Given the description of an element on the screen output the (x, y) to click on. 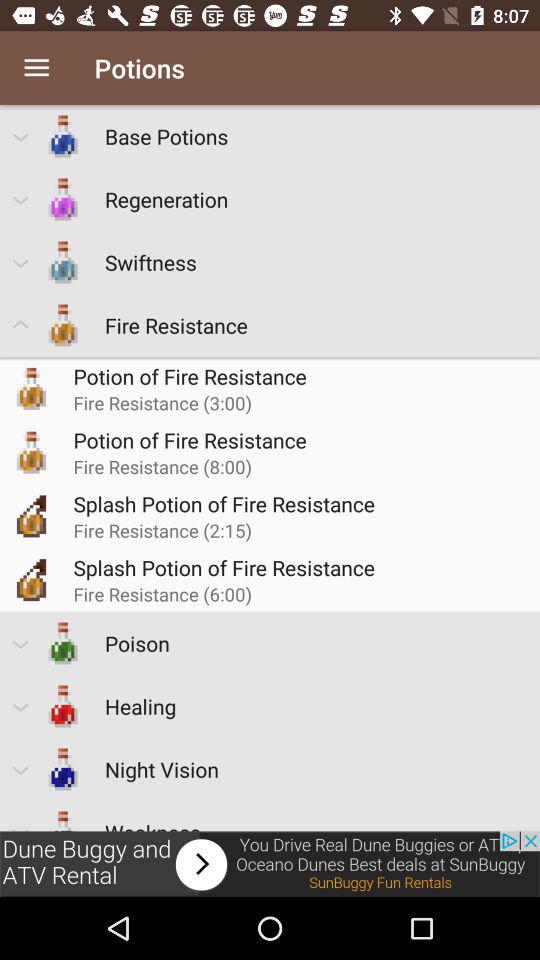
advertisement to open sunbuggy fun rentals website (270, 864)
